Given the description of an element on the screen output the (x, y) to click on. 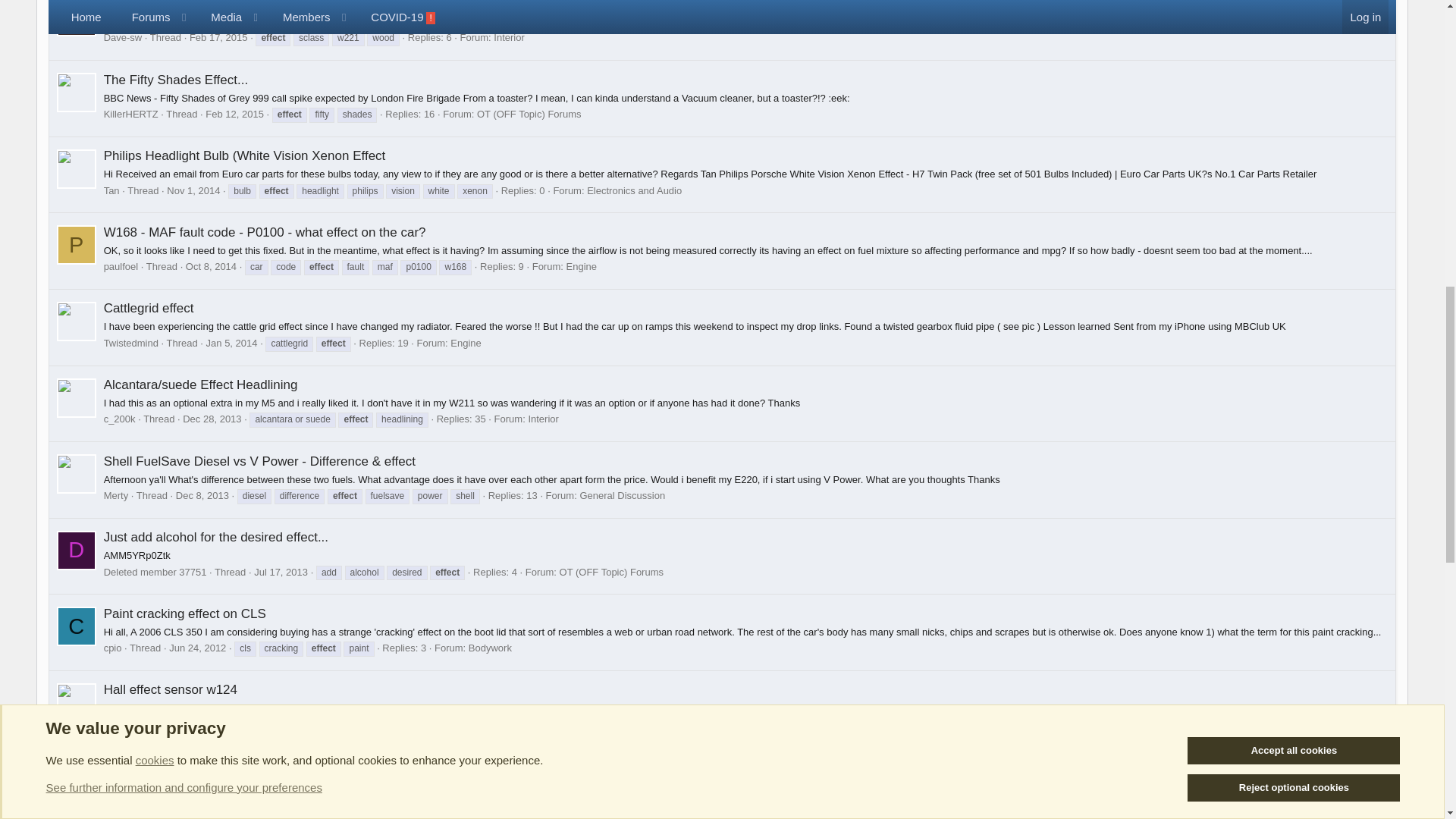
Feb 17, 2015 at 1:31 PM (218, 37)
Jan 5, 2014 at 11:24 AM (231, 342)
Dec 8, 2013 at 1:20 PM (202, 495)
Feb 12, 2015 at 12:54 PM (234, 113)
Jul 17, 2013 at 1:31 PM (280, 572)
Deleted member 37751 (76, 550)
Dec 28, 2013 at 3:24 PM (212, 419)
Nov 1, 2014 at 10:24 AM (193, 190)
Oct 8, 2014 at 12:58 AM (210, 266)
